Given the description of an element on the screen output the (x, y) to click on. 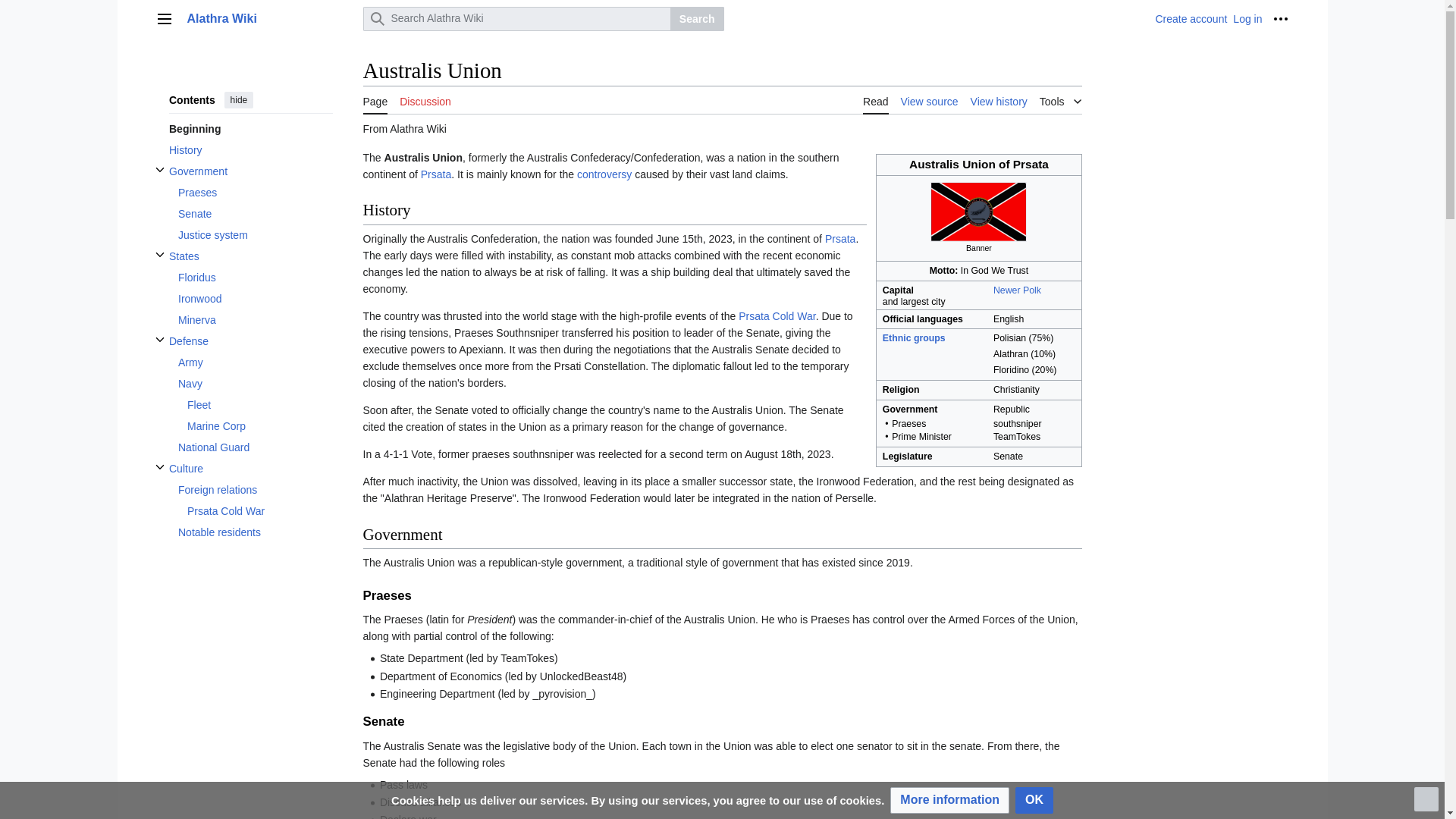
States (249, 255)
Toggle Culture subsection (159, 466)
Justice system (254, 234)
Toggle Defense subsection (159, 339)
Culture (249, 468)
National Guard (254, 446)
Toggle States subsection (159, 254)
Alathra Wiki (270, 18)
Praeses (254, 192)
Marine Corp (258, 425)
Log in (1247, 19)
More options (1280, 18)
Floridus (254, 277)
Search (696, 18)
